Given the description of an element on the screen output the (x, y) to click on. 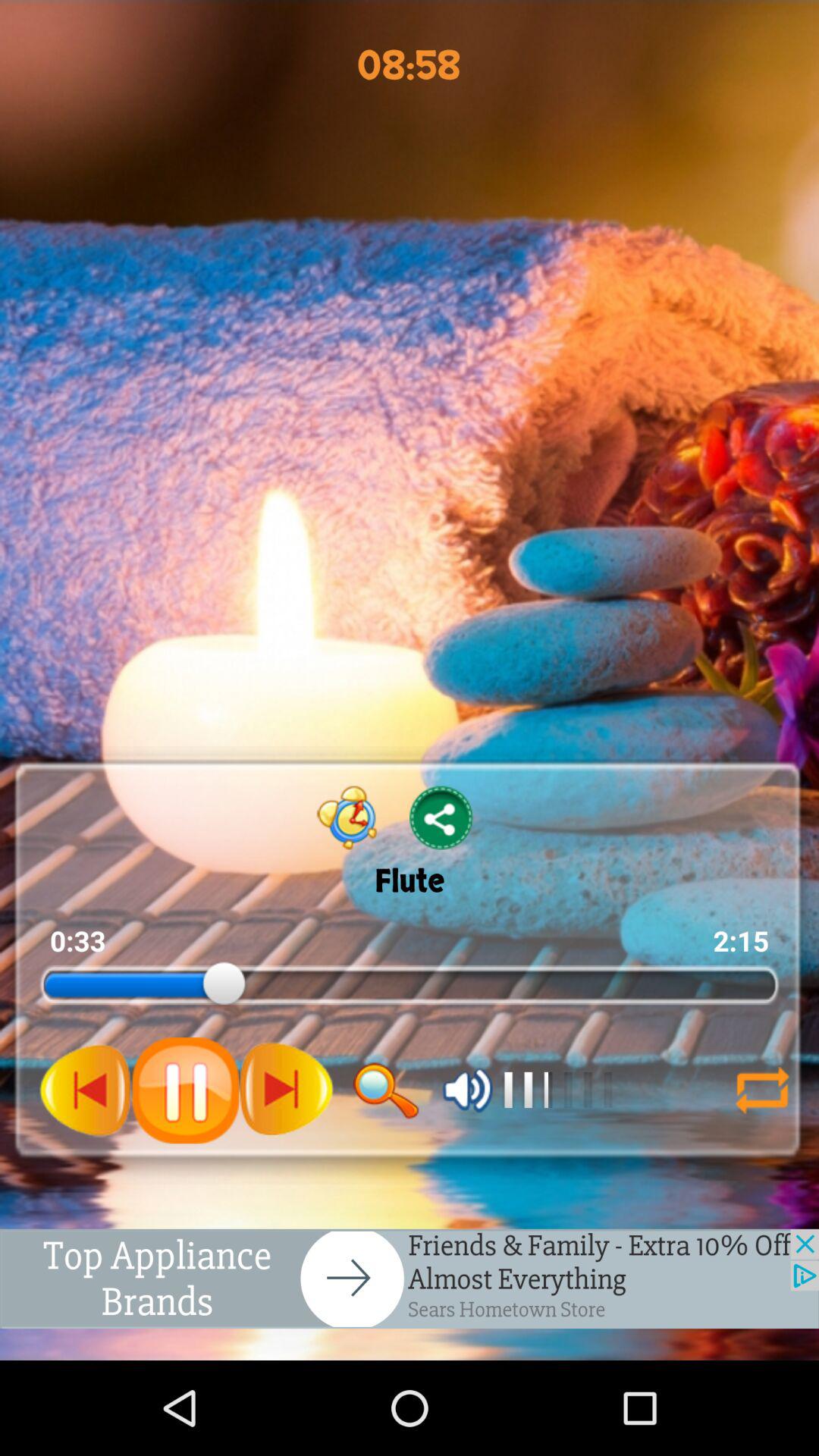
shuffle (755, 1089)
